Given the description of an element on the screen output the (x, y) to click on. 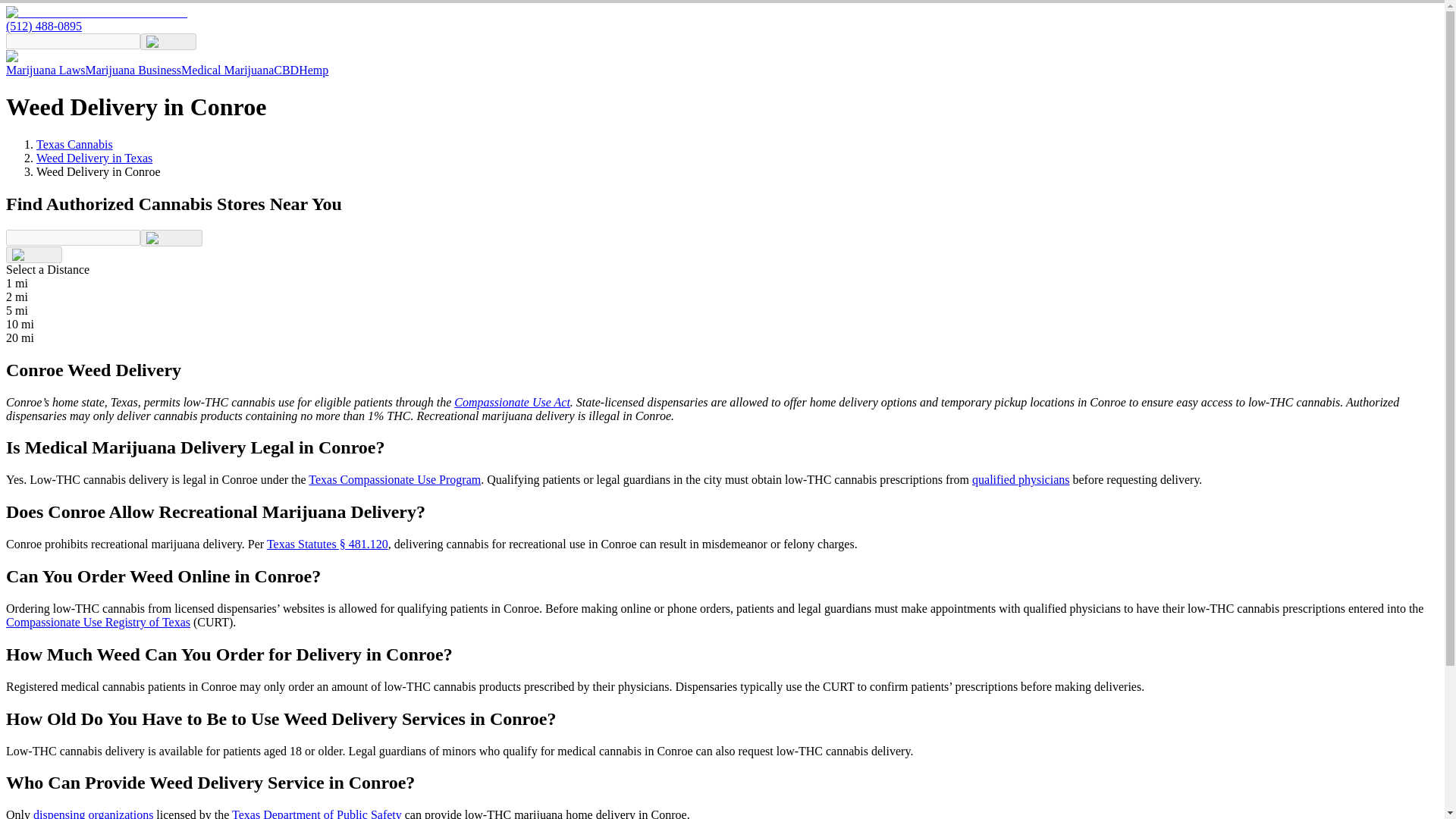
Texas Compassionate Use Program (394, 479)
Hemp (313, 69)
qualified physicians (1020, 479)
CBD (285, 69)
Weed Delivery in Texas (94, 157)
dispensing organizations (92, 813)
Texas Cannabis (74, 144)
Medical Marijuana (226, 69)
Compassionate Use Act (512, 401)
Marijuana Laws (44, 69)
Marijuana Business (132, 69)
Texas Department of Public Safety (316, 813)
Compassionate Use Registry of Texas (97, 621)
